Given the description of an element on the screen output the (x, y) to click on. 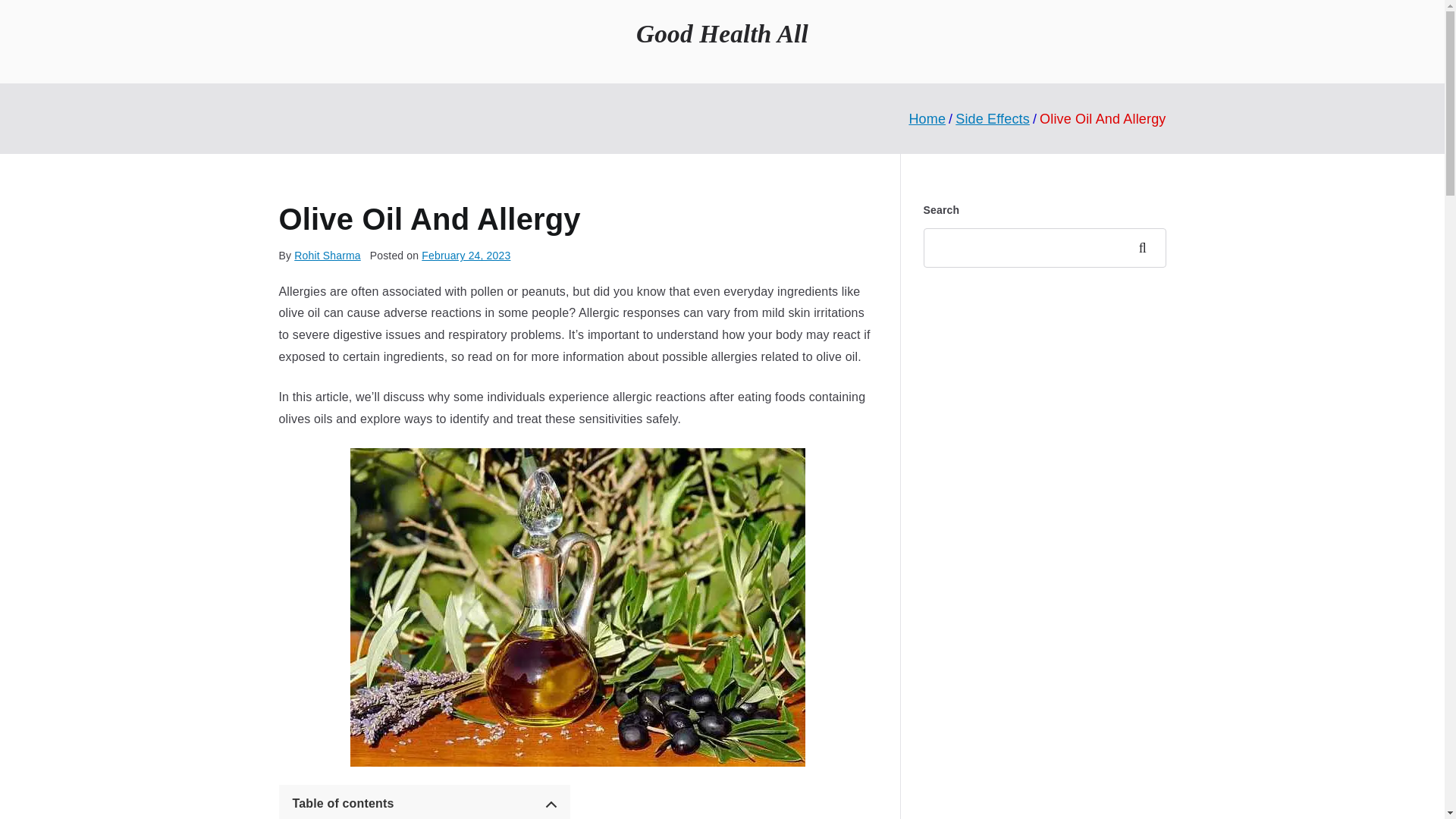
Rohit Sharma (327, 255)
Home (926, 118)
Search (1147, 247)
Side Effects (992, 118)
February 24, 2023 (466, 255)
Good Health All (722, 33)
